Given the description of an element on the screen output the (x, y) to click on. 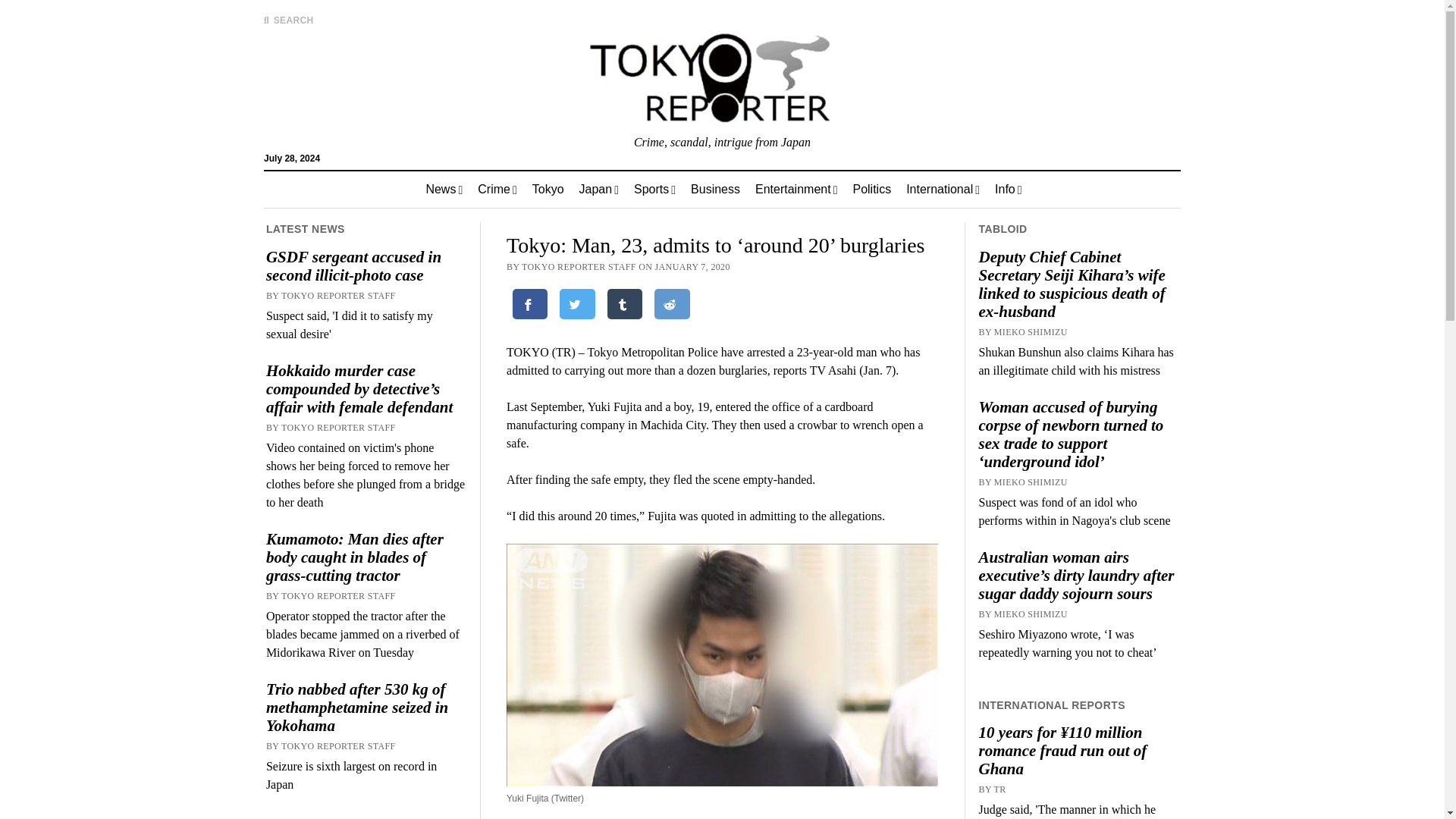
Politics (871, 189)
Sports (654, 189)
Crime (496, 189)
Search (945, 129)
Entertainment (795, 189)
News (443, 189)
Tokyo (547, 189)
Japan (598, 189)
SEARCH (288, 20)
Business (715, 189)
